Given the description of an element on the screen output the (x, y) to click on. 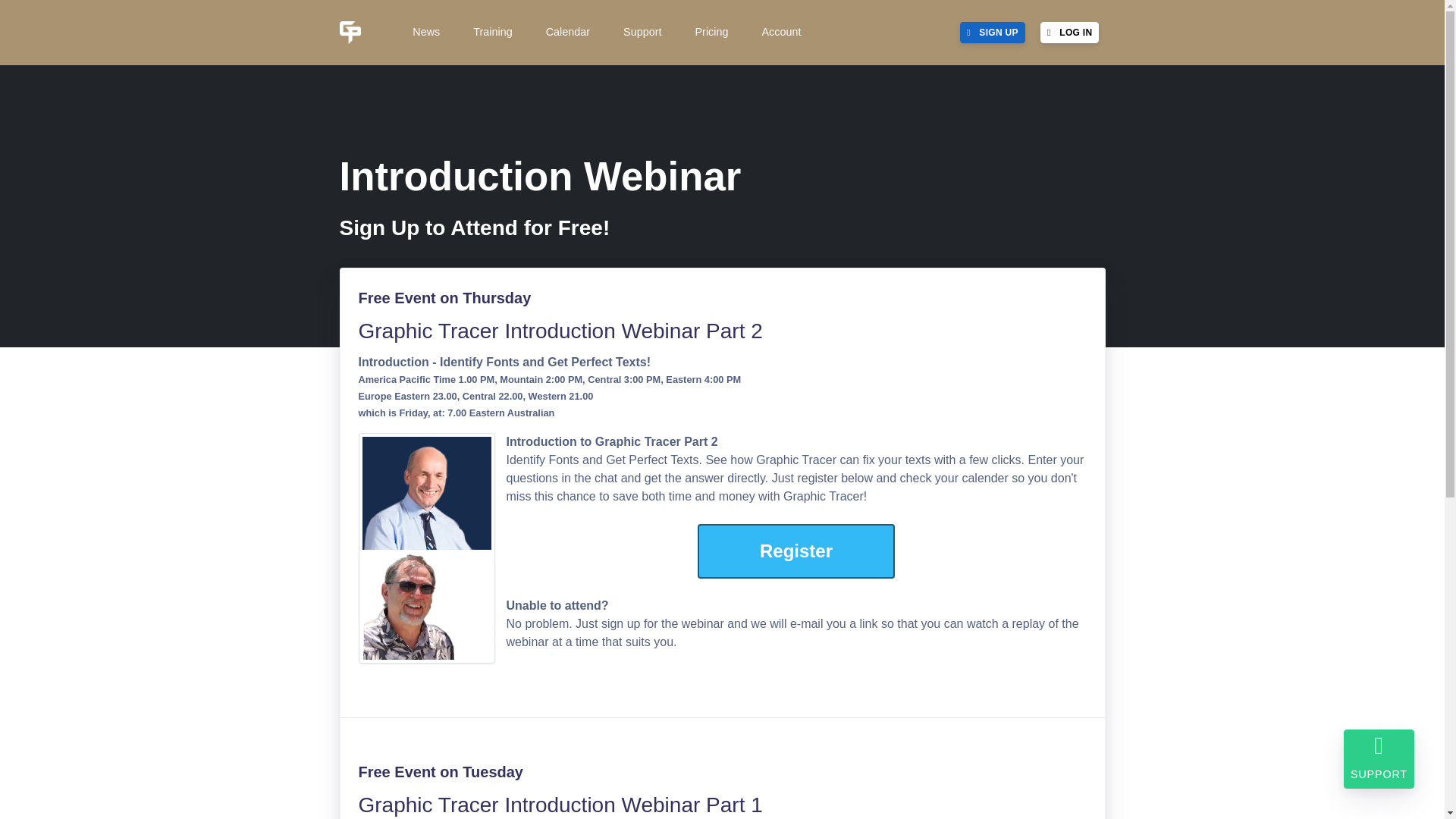
Training (491, 32)
SIGN UP (992, 32)
Support (640, 32)
News (424, 32)
SUPPORT (1378, 758)
Account (778, 32)
Calendar (566, 32)
Register (796, 551)
Pricing (709, 32)
LOG IN (1070, 32)
